Given the description of an element on the screen output the (x, y) to click on. 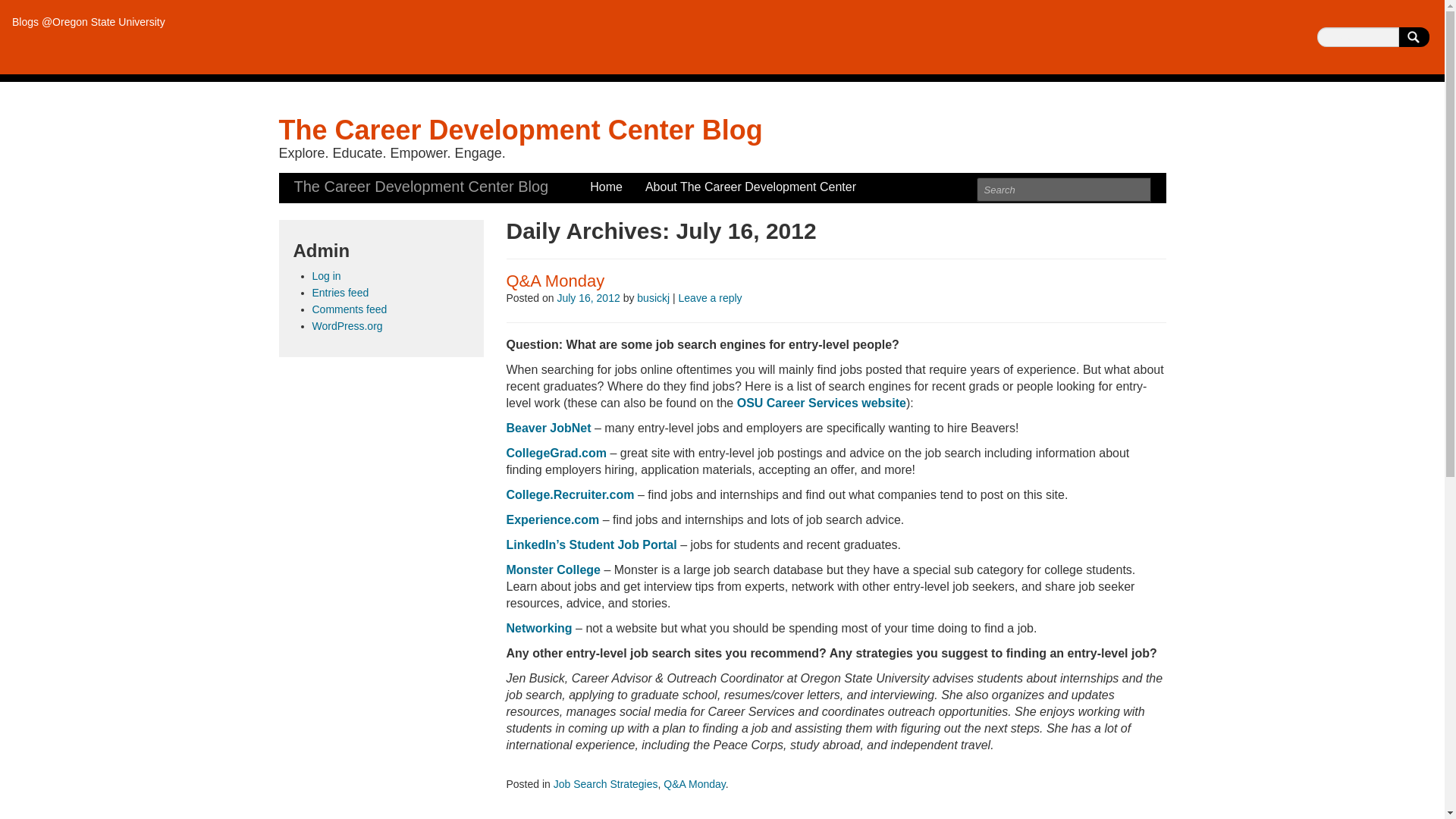
2:49 pm (588, 297)
Experience.com (552, 519)
Job Search Strategies (605, 784)
OSU Career Services website (820, 402)
networking (541, 627)
Log in (326, 275)
CollegeGrad.com (556, 452)
LinkedIn's Student Job Portal (591, 544)
Monster College (552, 569)
busickj (653, 297)
OSU Career Services website (820, 402)
Skip to primary content (341, 180)
Skip to secondary content (349, 180)
About The Career Development Center (750, 187)
CollegeRecruiter.com (570, 494)
